Given the description of an element on the screen output the (x, y) to click on. 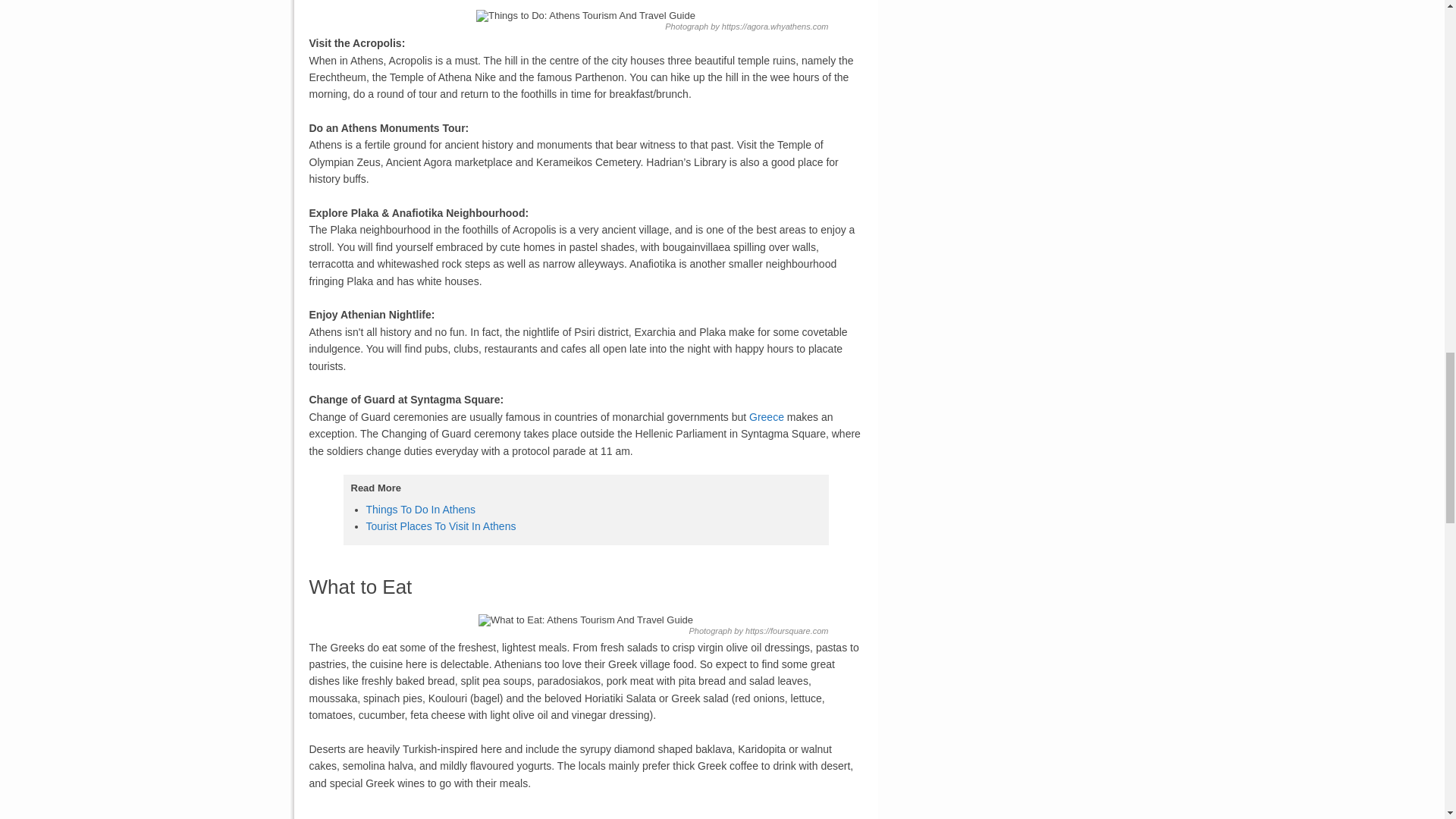
Tourist Places To Visit In Athens (440, 526)
Things To Do In Athens (420, 509)
Greece (766, 417)
